Given the description of an element on the screen output the (x, y) to click on. 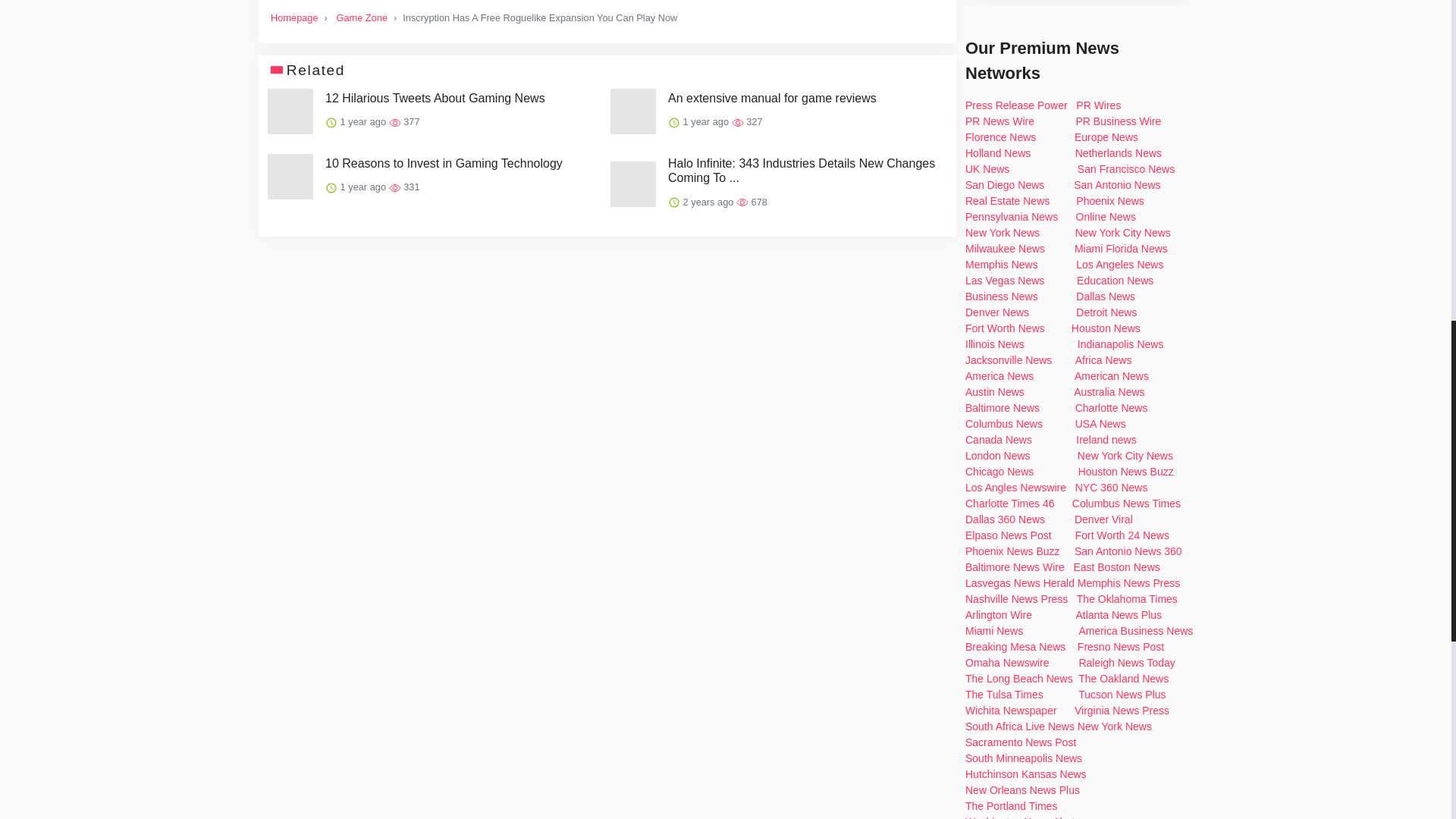
12 Hilarious Tweets About Gaming News (434, 97)
An extensive manual for game reviews (772, 97)
12 Hilarious Tweets About Gaming News (434, 97)
10 Reasons to Invest in Gaming Technology (443, 163)
10 Reasons to Invest in Gaming Technology (443, 163)
An extensive manual for game reviews (772, 97)
Game Zone (361, 17)
Homepage (294, 17)
